Given the description of an element on the screen output the (x, y) to click on. 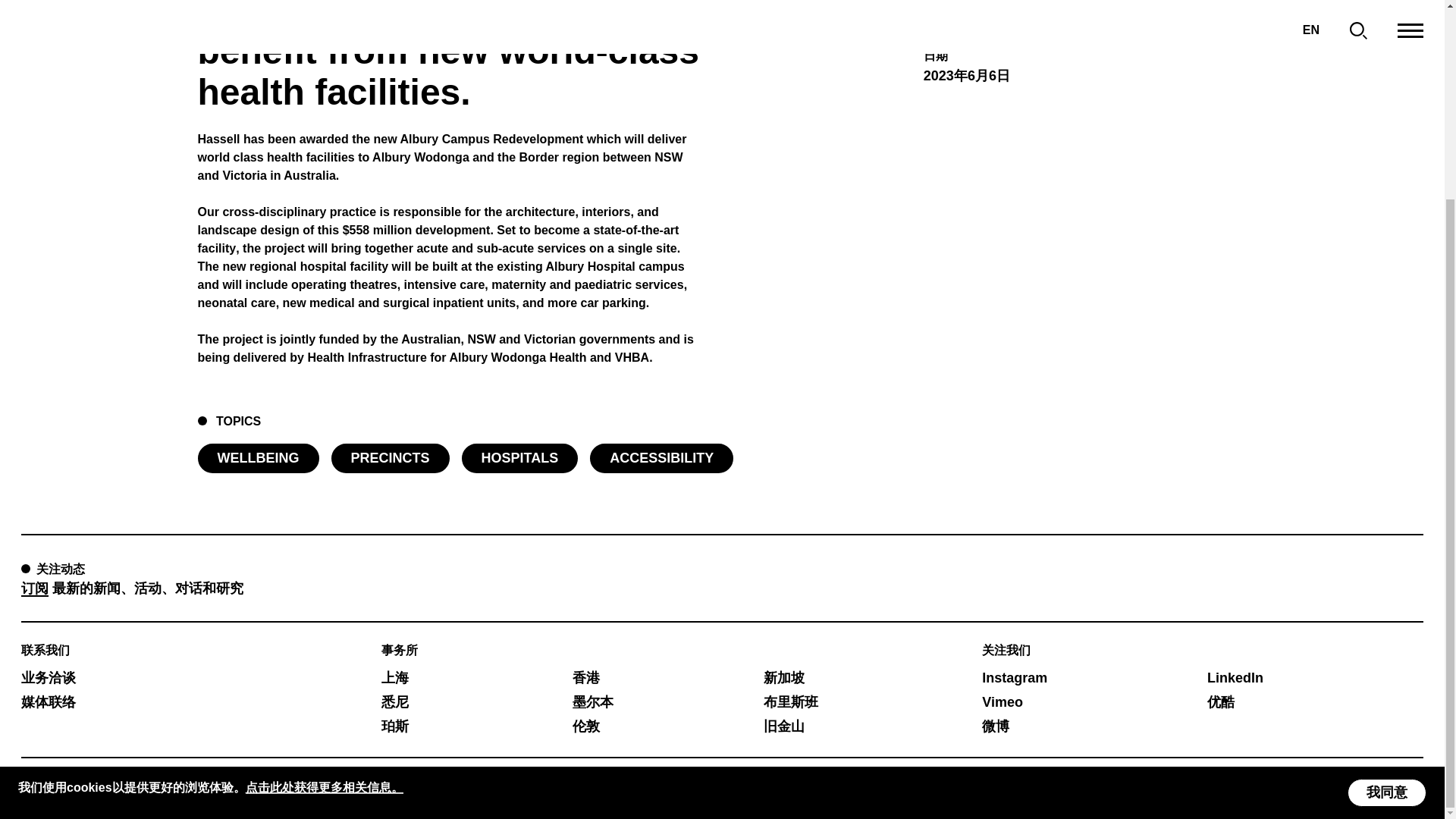
Modern Slavery Transparency Statement (261, 788)
Vimeo (1002, 702)
WELLBEING (257, 458)
LinkedIn (1235, 677)
Instagram (1013, 677)
HOSPITALS (519, 458)
Privacy Policy (69, 788)
PRECINCTS (389, 458)
ACCESSIBILITY (661, 458)
